Given the description of an element on the screen output the (x, y) to click on. 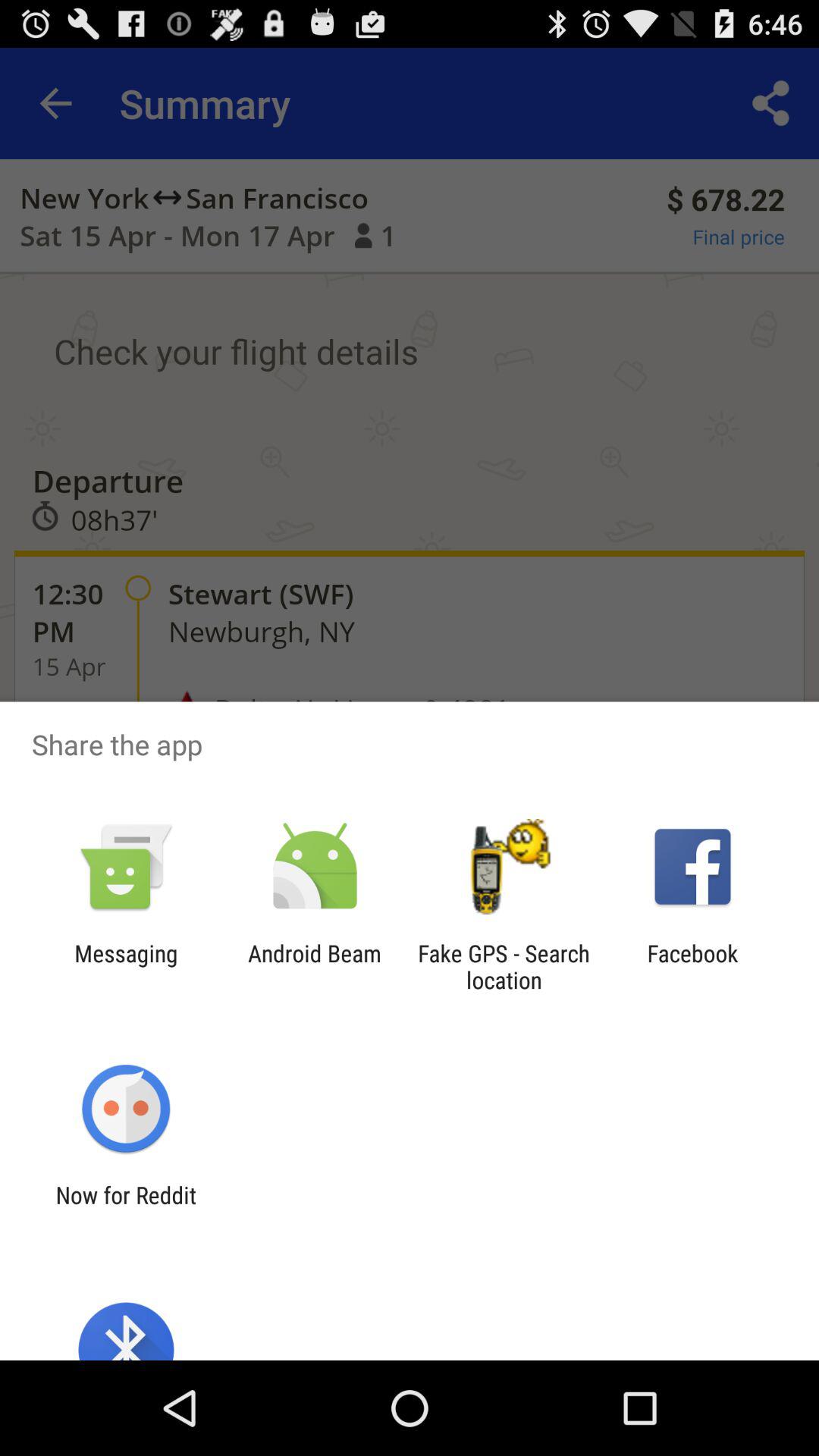
choose app to the left of the fake gps search app (314, 966)
